Given the description of an element on the screen output the (x, y) to click on. 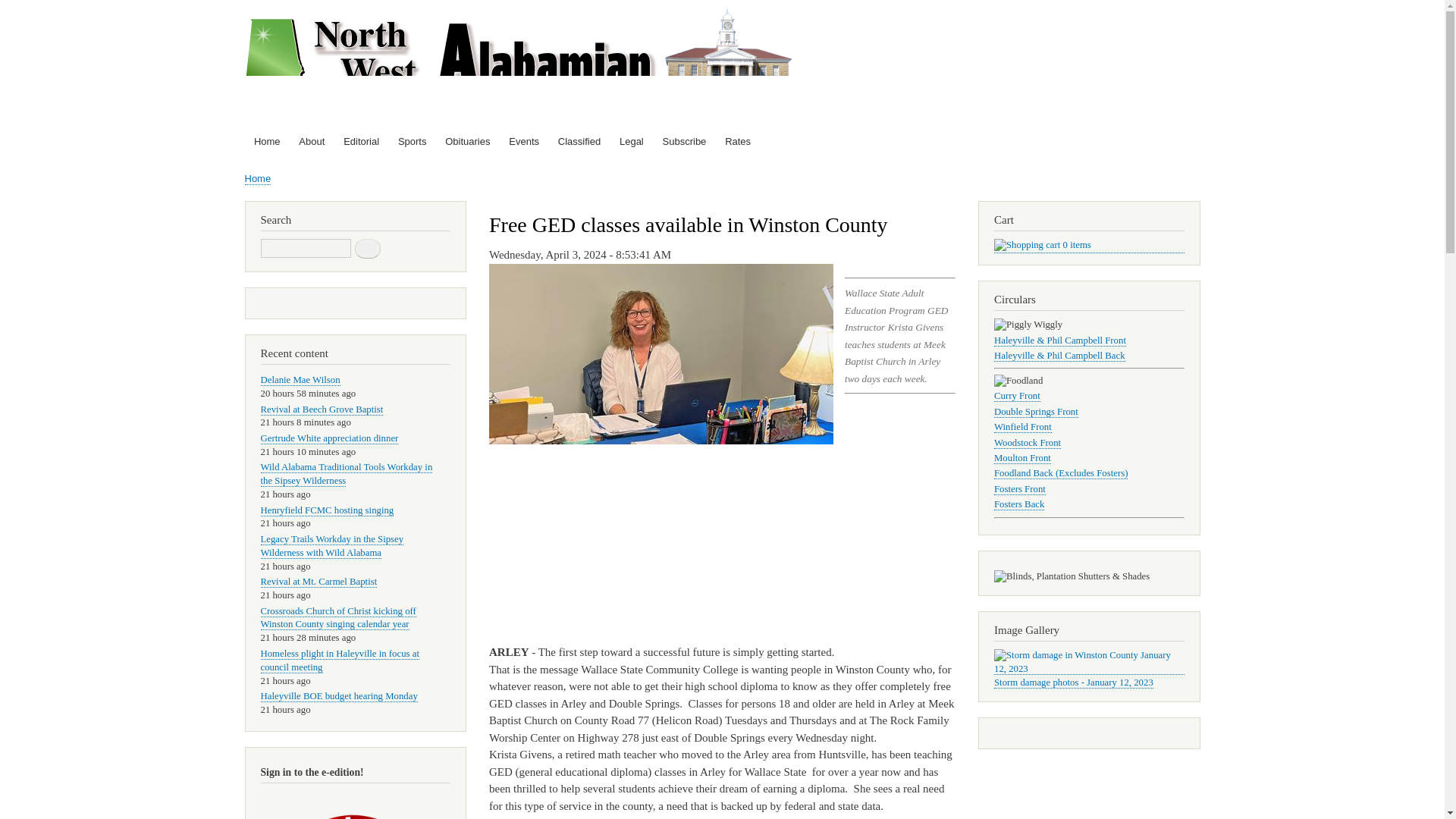
Legal (631, 141)
Sports (411, 141)
Search (367, 248)
Editorial (361, 141)
Gertrude White appreciation dinner (329, 438)
Home (257, 178)
Our History (312, 141)
Subscribe (683, 141)
Events (523, 141)
Northwest Alabamian (908, 29)
